Given the description of an element on the screen output the (x, y) to click on. 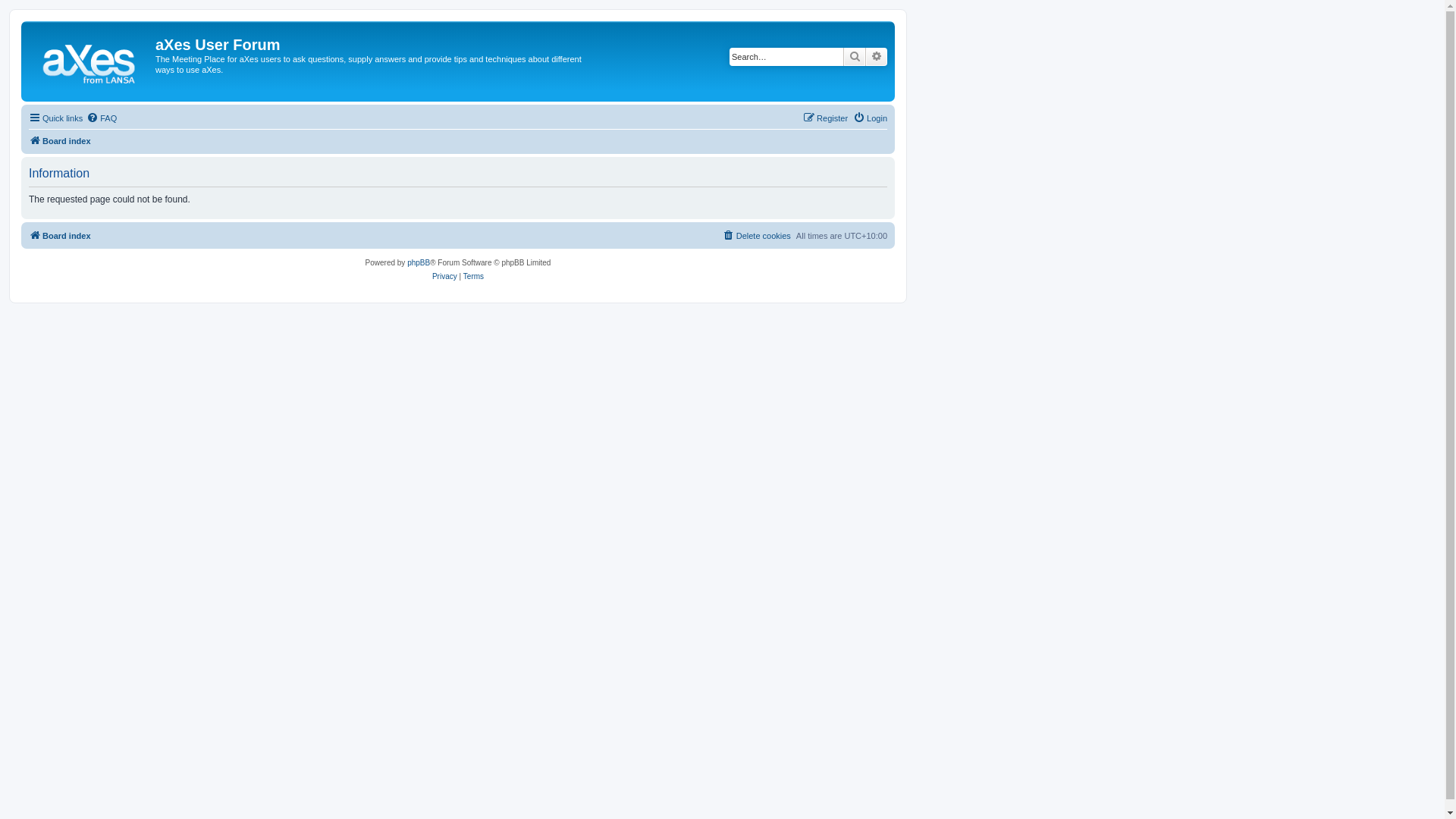
Board index Element type: text (59, 140)
phpBB Element type: text (418, 262)
Board index Element type: text (59, 235)
Search for keywords Element type: hover (786, 56)
Delete cookies Element type: text (756, 235)
Advanced search Element type: text (876, 56)
Board index Element type: hover (90, 61)
FAQ Element type: text (101, 118)
Quick links Element type: text (55, 118)
Privacy Element type: text (444, 276)
Register Element type: text (825, 118)
Login Element type: text (870, 118)
Terms Element type: text (473, 276)
Search Element type: text (854, 56)
